Given the description of an element on the screen output the (x, y) to click on. 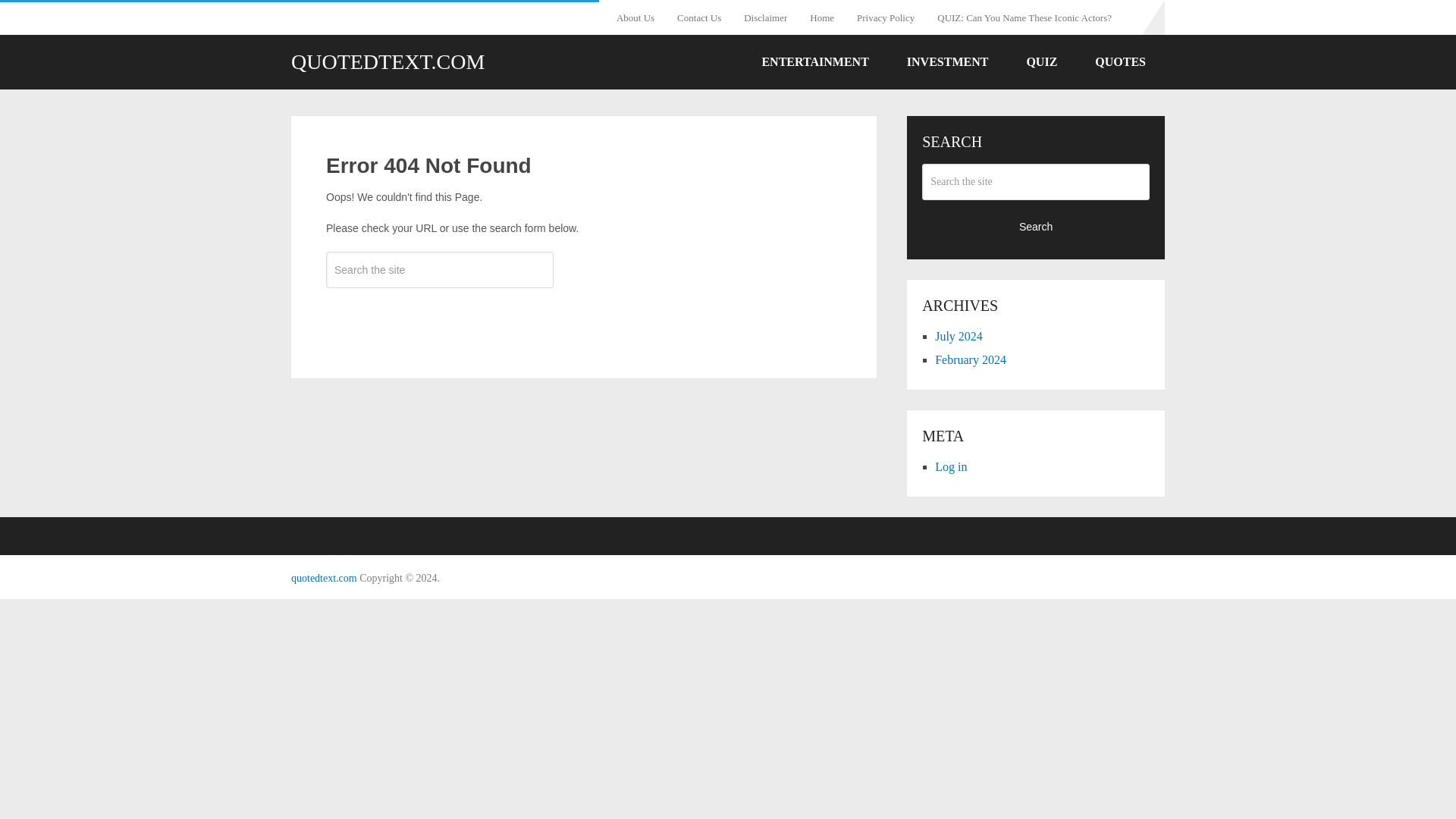
QUOTES (1119, 62)
Privacy Policy (885, 17)
Log in (950, 466)
Search (439, 313)
Disclaimer (764, 17)
QUOTEDTEXT.COM (387, 61)
QUIZ: Can You Name These Iconic Actors? (1024, 17)
Home (821, 17)
quotedtext.com (323, 577)
INVESTMENT (947, 62)
About Us (640, 17)
Contact Us (698, 17)
ENTERTAINMENT (814, 62)
July 2024 (958, 336)
